Given the description of an element on the screen output the (x, y) to click on. 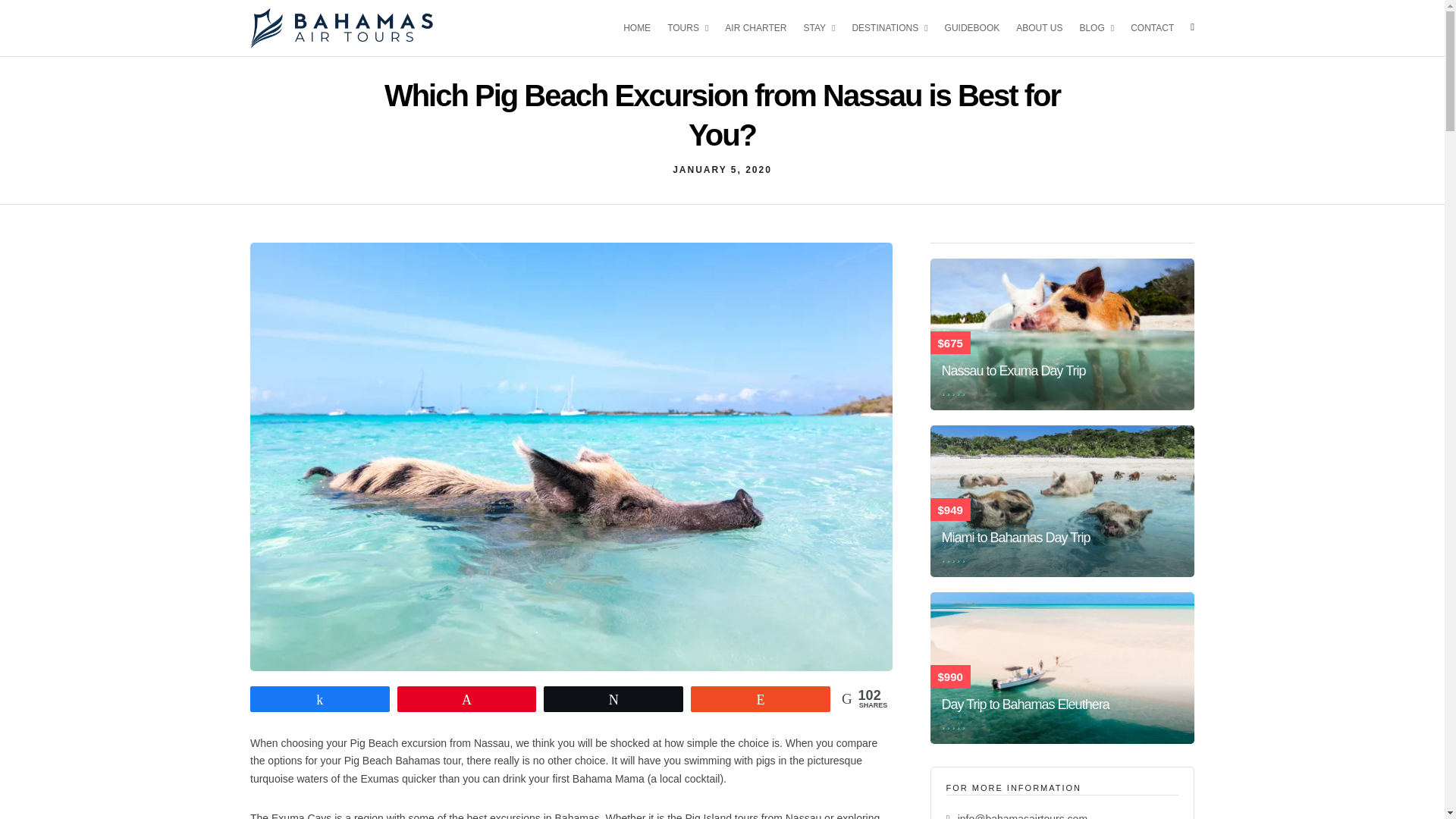
Which Pig Beach Excursion from Nassau is Best for You? (721, 169)
